Given the description of an element on the screen output the (x, y) to click on. 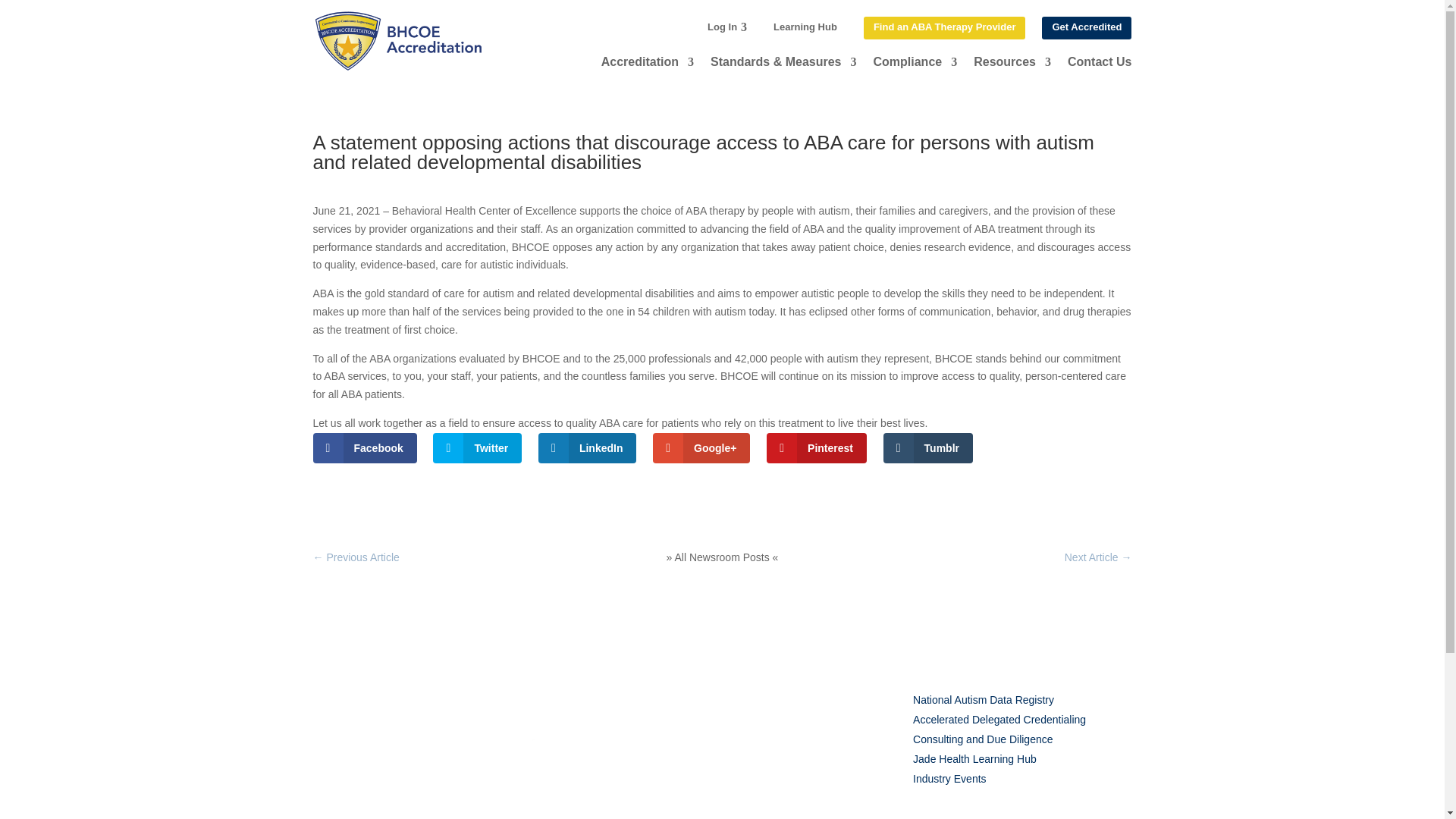
Consulting and due diligence (982, 739)
BHCOE learning hub (974, 758)
Accelerated Delegated Credentialing overview (999, 719)
Find an ABA Therapy Provider (944, 27)
Industry events (949, 778)
Get Accredited (1086, 27)
Learning Hub (804, 27)
Log In (721, 27)
National Autism Data Registry overview (983, 699)
